Given the description of an element on the screen output the (x, y) to click on. 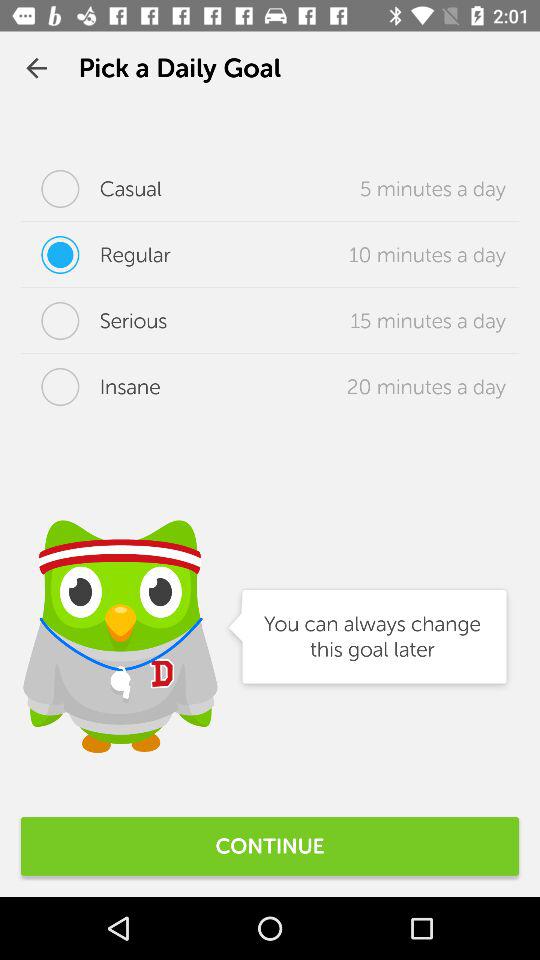
turn off continue icon (270, 846)
